Given the description of an element on the screen output the (x, y) to click on. 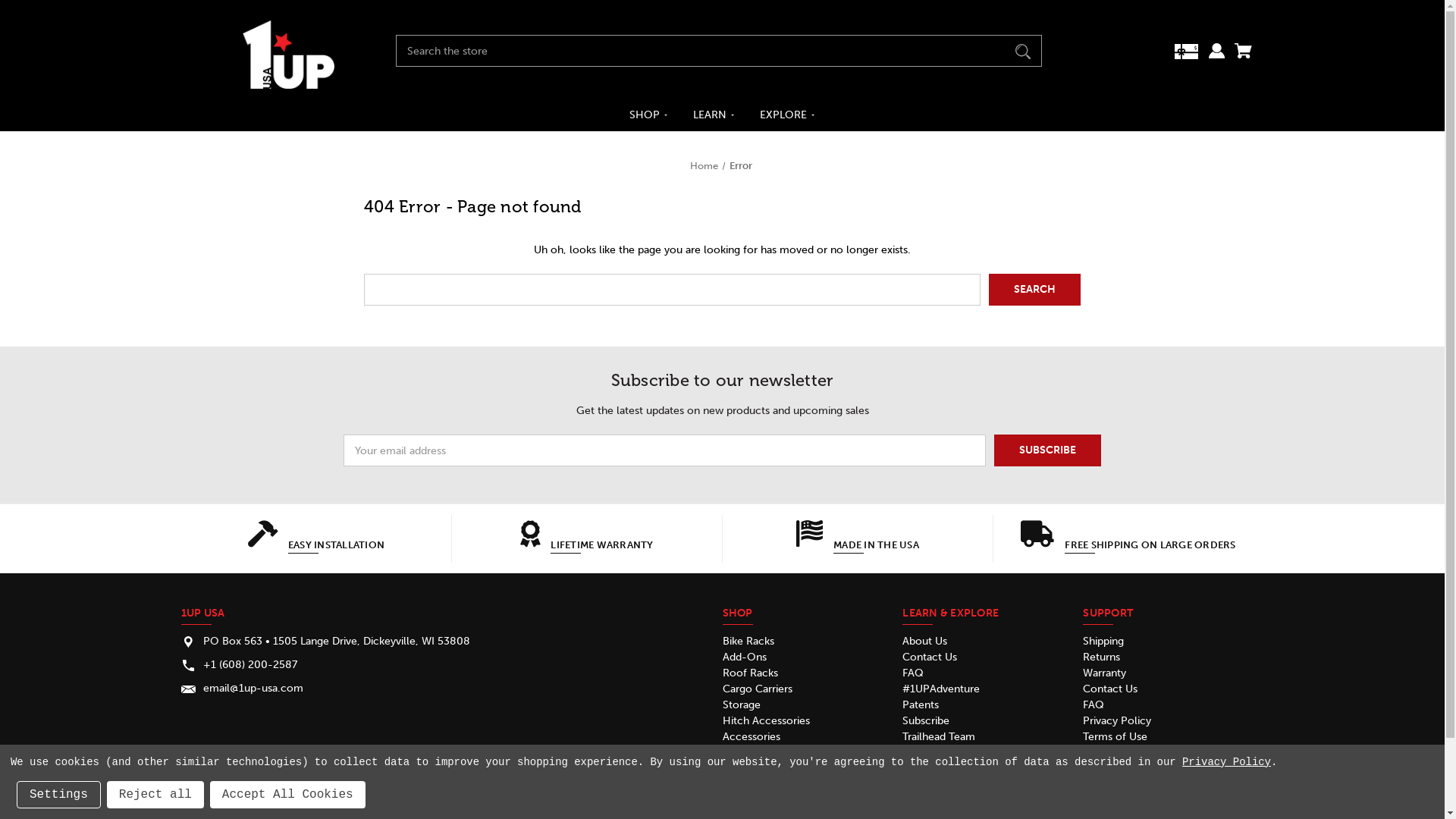
Privacy Policy Element type: text (1226, 762)
Error Element type: text (740, 165)
Search Element type: text (1034, 289)
email@1up-usa.com Element type: text (253, 687)
#1UPAdventure Element type: text (940, 688)
Home Element type: text (704, 165)
Accept All Cookies Element type: text (287, 794)
Bargain Garage Element type: text (758, 799)
+1 (608) 200-2587 Element type: text (250, 664)
LEARN Element type: text (713, 114)
Reject all Element type: text (154, 794)
Hitch Accessories Element type: text (765, 720)
About Us Element type: text (924, 640)
Warranty Element type: text (1104, 672)
1UP USA Element type: hover (288, 54)
Subscribe Element type: text (1047, 450)
Privacy Policy Element type: text (1116, 720)
Subscribe Element type: text (925, 720)
Gear Element type: text (733, 768)
Cargo Carriers Element type: text (756, 688)
Returns Element type: text (1101, 656)
Bike Racks Element type: text (747, 640)
Add-Ons Element type: text (743, 656)
Patents Element type: text (920, 704)
Storage Element type: text (740, 704)
Contact Us Element type: text (929, 656)
Trailhead Team Element type: text (938, 736)
FAQ Element type: text (912, 672)
Videos Element type: text (918, 752)
FAQ Element type: text (1093, 704)
EXPLORE Element type: text (787, 114)
Magnifying glass image Large red circle with a black border Element type: text (1022, 49)
Accessories Element type: text (750, 736)
Replacement Parts Element type: text (767, 784)
Contact Us Element type: text (1109, 688)
GIFT CARD IMAGE LARGE SQUARE BLACK IMAGE WITH A BOW ONTOP Element type: text (1185, 57)
SHOP Element type: text (648, 114)
Shipping Element type: text (1102, 640)
Security Options Element type: text (762, 752)
Terms of Use Element type: text (1114, 736)
Roof Racks Element type: text (749, 672)
Settings Element type: text (58, 794)
